Given the description of an element on the screen output the (x, y) to click on. 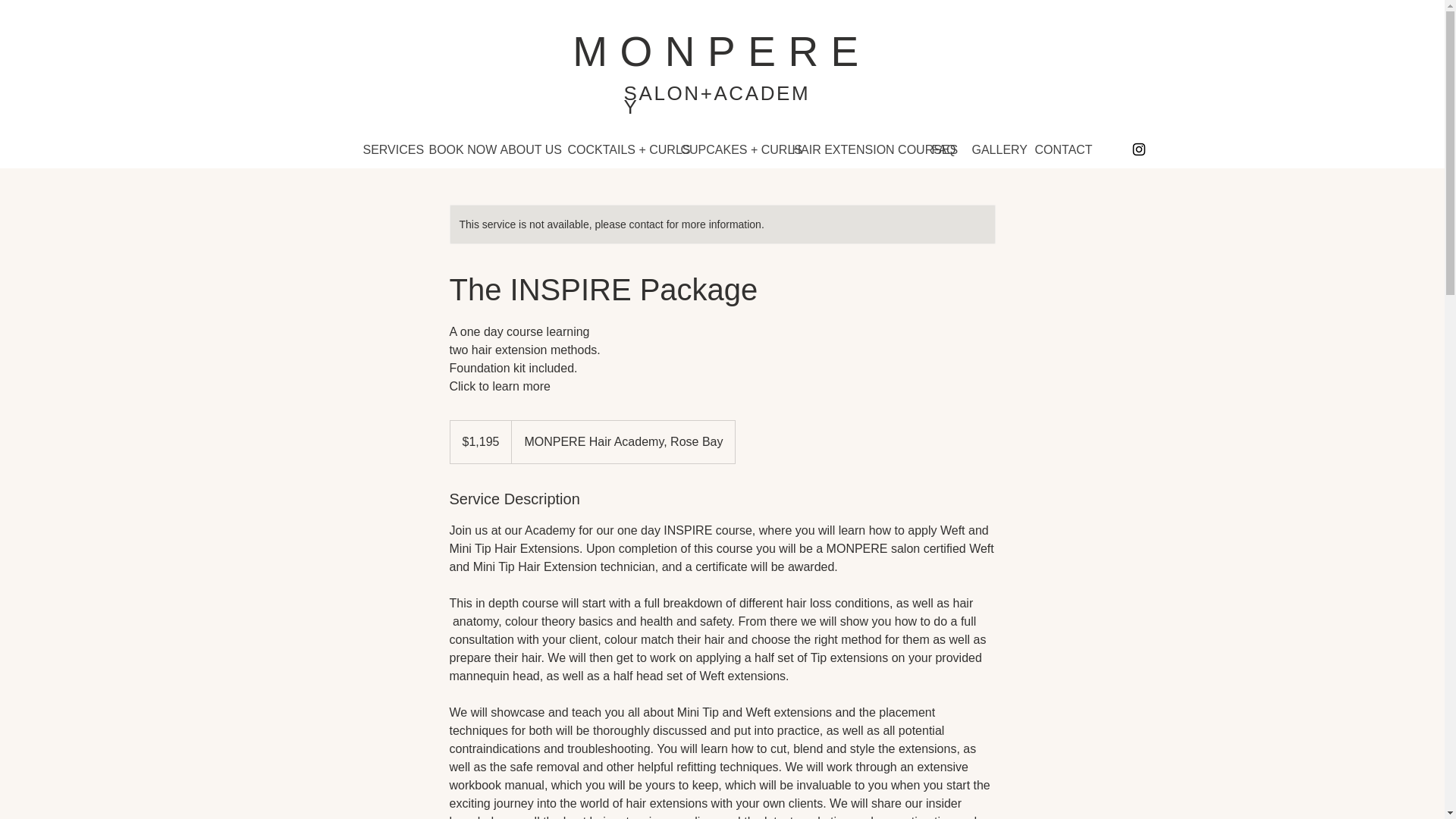
BOOK NOW (451, 149)
CONTACT (1054, 149)
GALLERY (991, 149)
MONPERE (721, 51)
FAQ (940, 149)
SERVICES (384, 149)
ABOUT US (521, 149)
HAIR EXTENSION COURSES (850, 149)
